Given the description of an element on the screen output the (x, y) to click on. 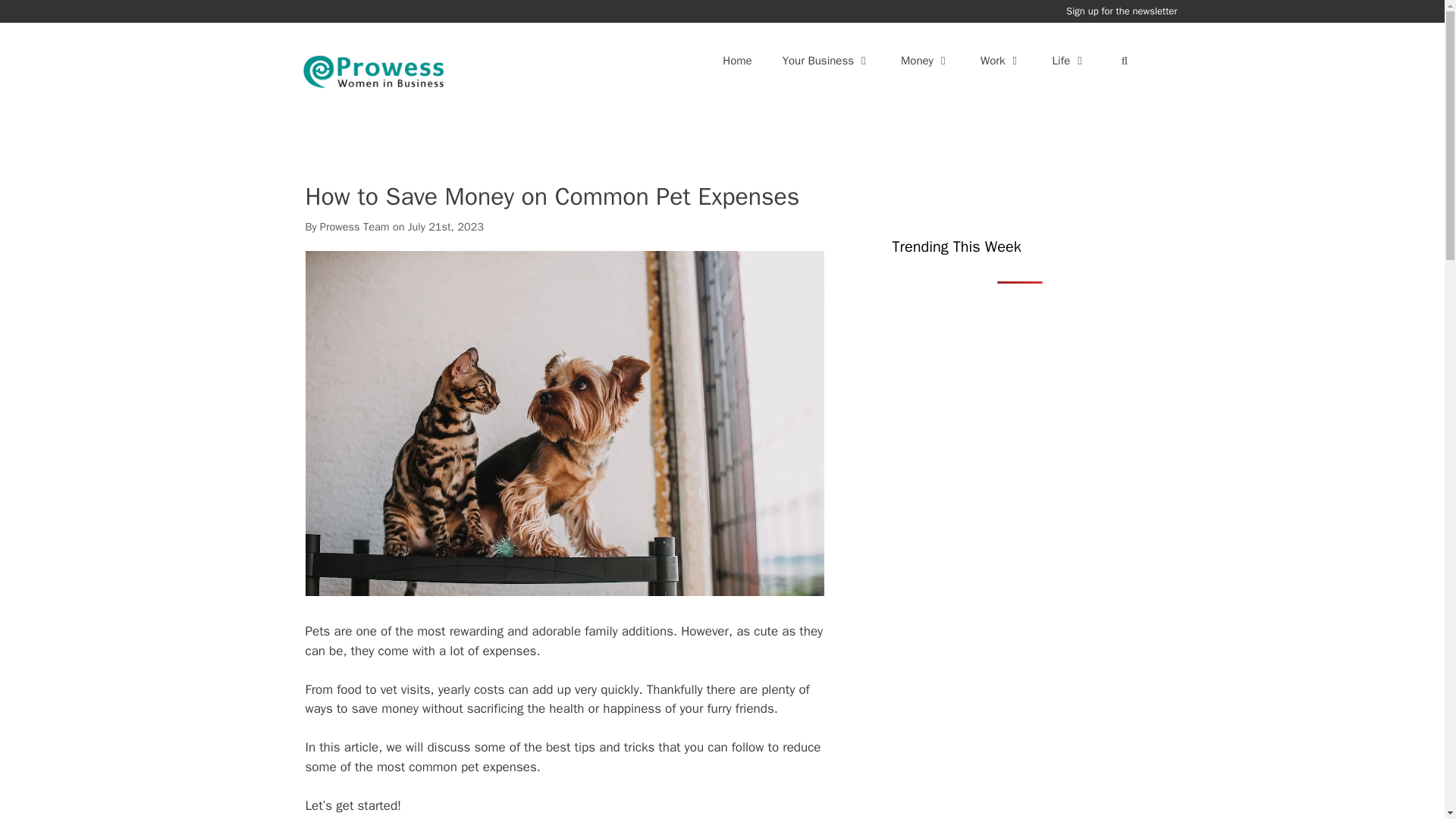
Life (1069, 60)
Money (925, 60)
Home (737, 60)
Your Business (826, 60)
Work (1000, 60)
Posts by Prowess Team (355, 226)
Sign up for the newsletter (1120, 10)
